Given the description of an element on the screen output the (x, y) to click on. 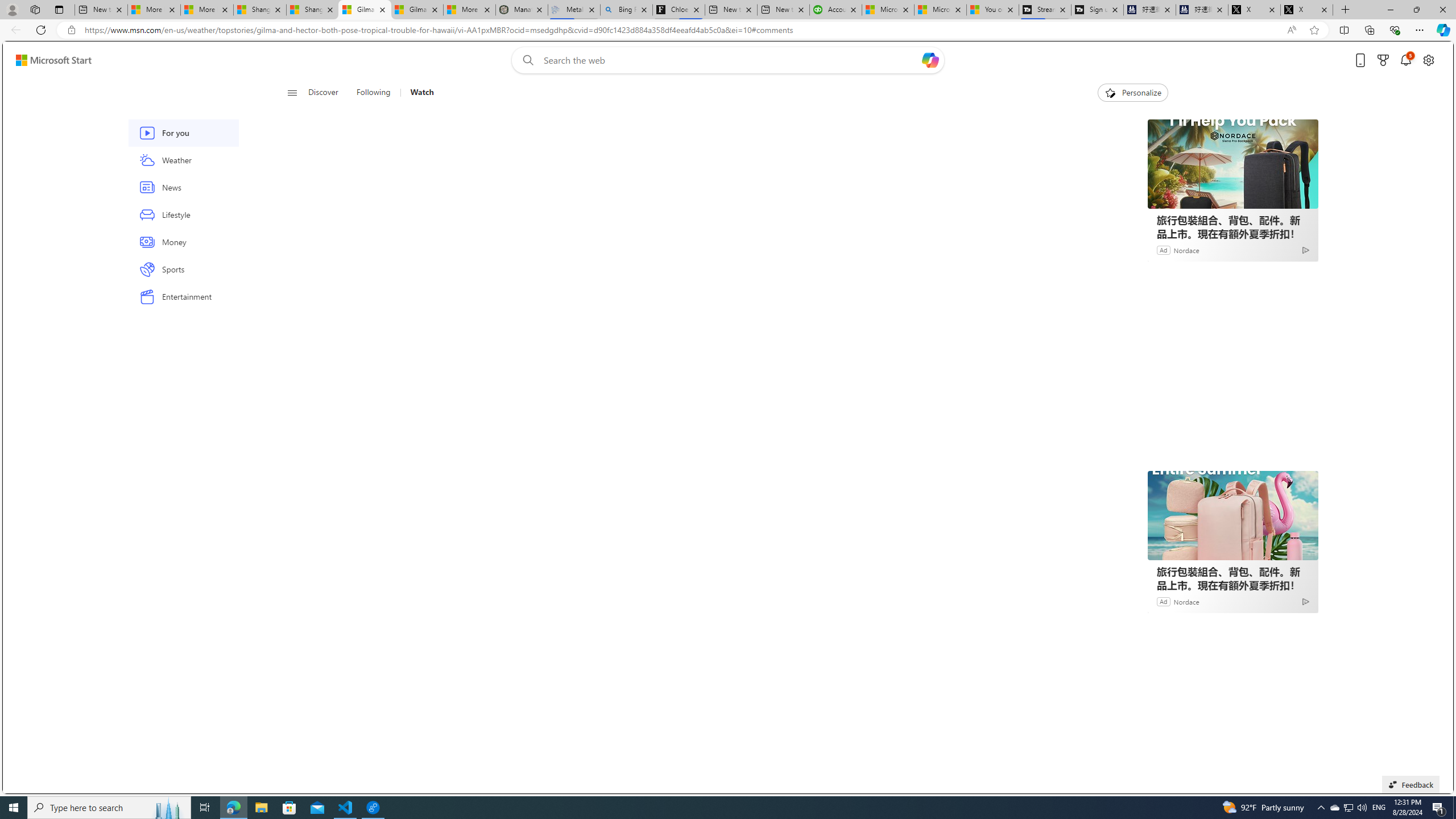
To get missing image descriptions, open the context menu. (1109, 92)
Bing Real Estate - Home sales and rental listings (626, 9)
